Given the description of an element on the screen output the (x, y) to click on. 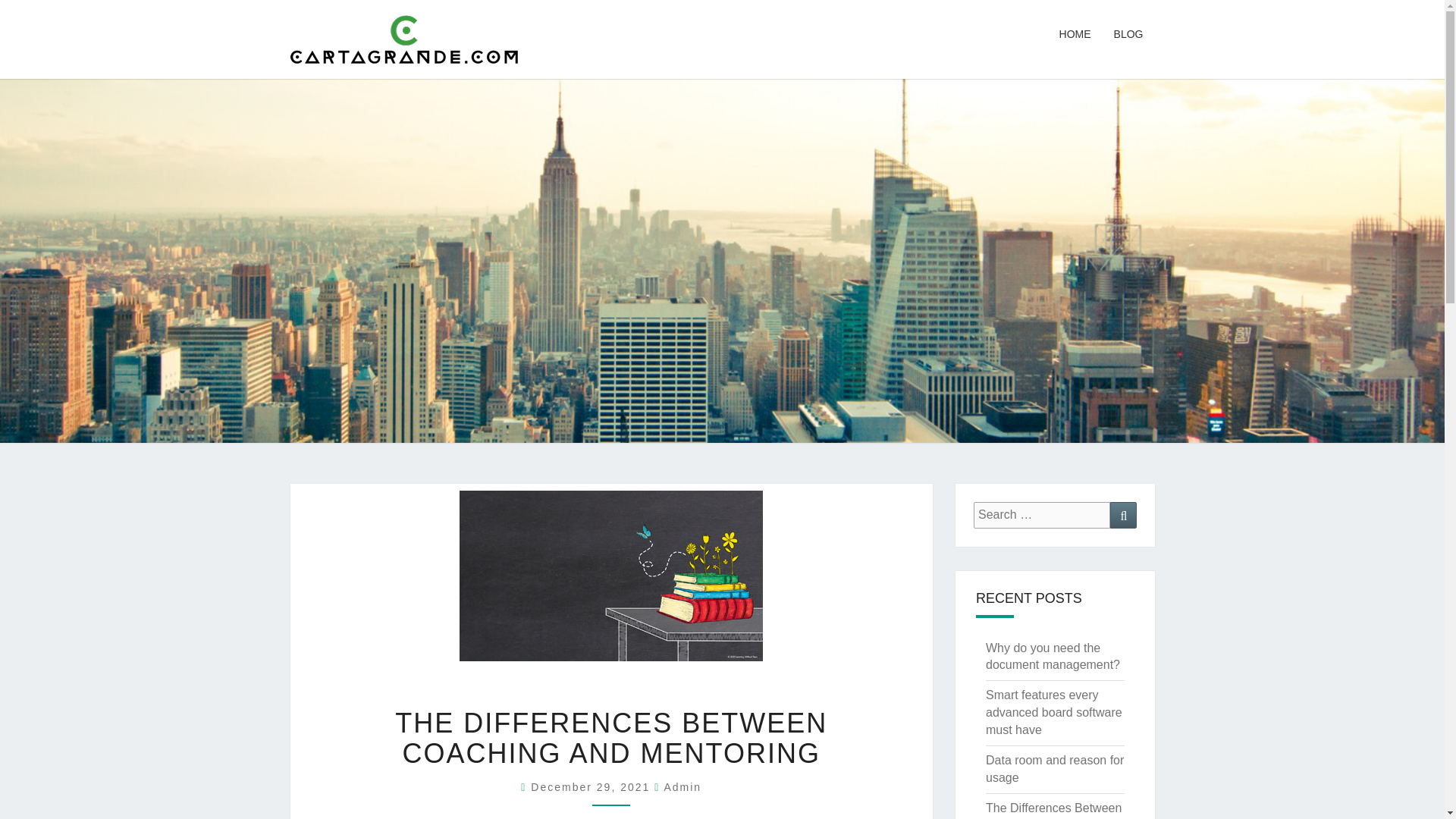
HOME (1075, 34)
December 29, 2021 (592, 787)
10:03 pm (592, 787)
Search (1123, 515)
Data room and reason for usage (1054, 768)
Admin (682, 787)
The Differences Between Coaching and Mentoring (1053, 810)
BLOG (1128, 34)
View all posts by admin (682, 787)
Search for: (1041, 515)
Smart features every advanced board software must have (1053, 712)
Why do you need the document management? (1052, 656)
